Given the description of an element on the screen output the (x, y) to click on. 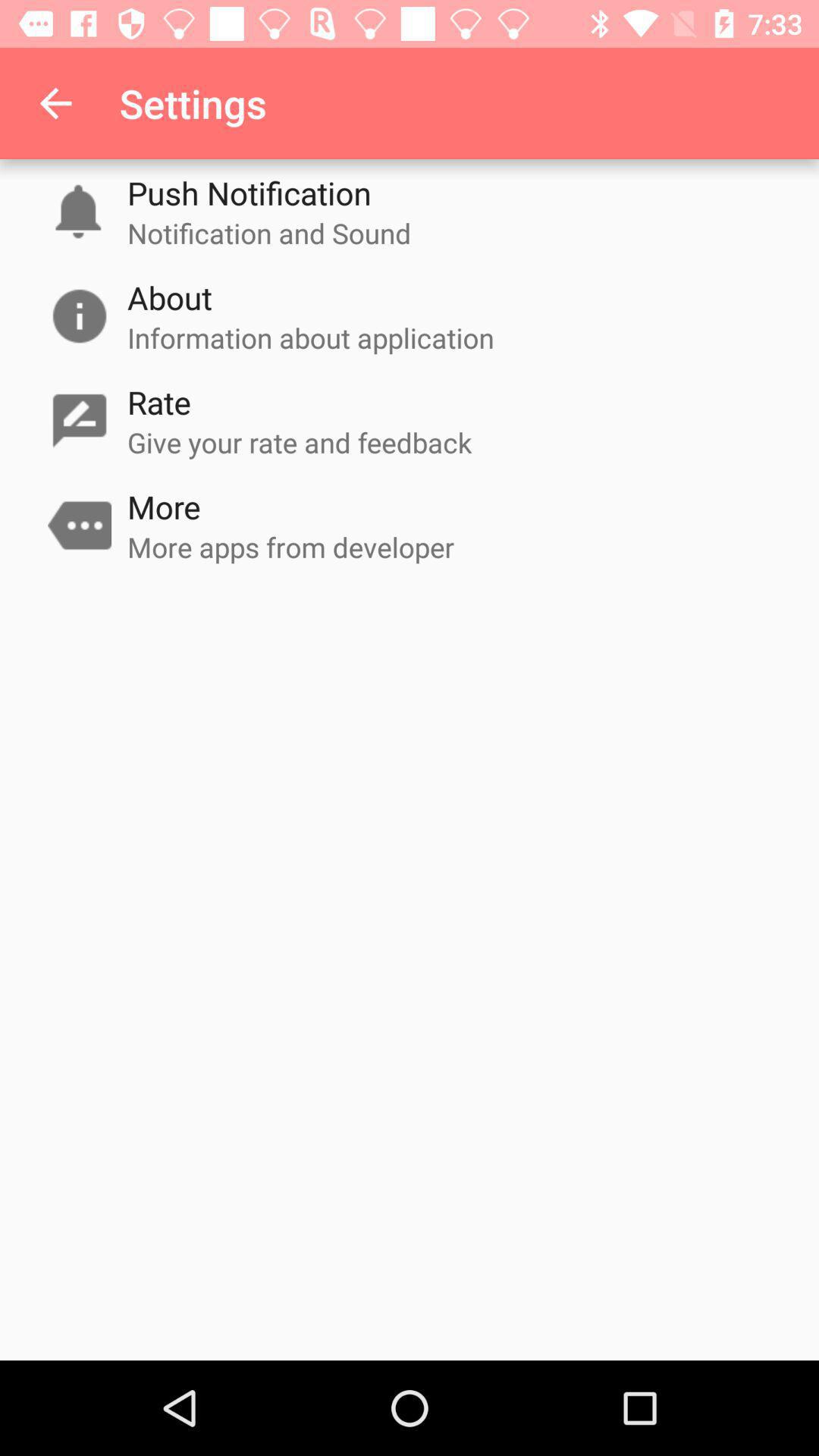
click item below rate icon (299, 442)
